Given the description of an element on the screen output the (x, y) to click on. 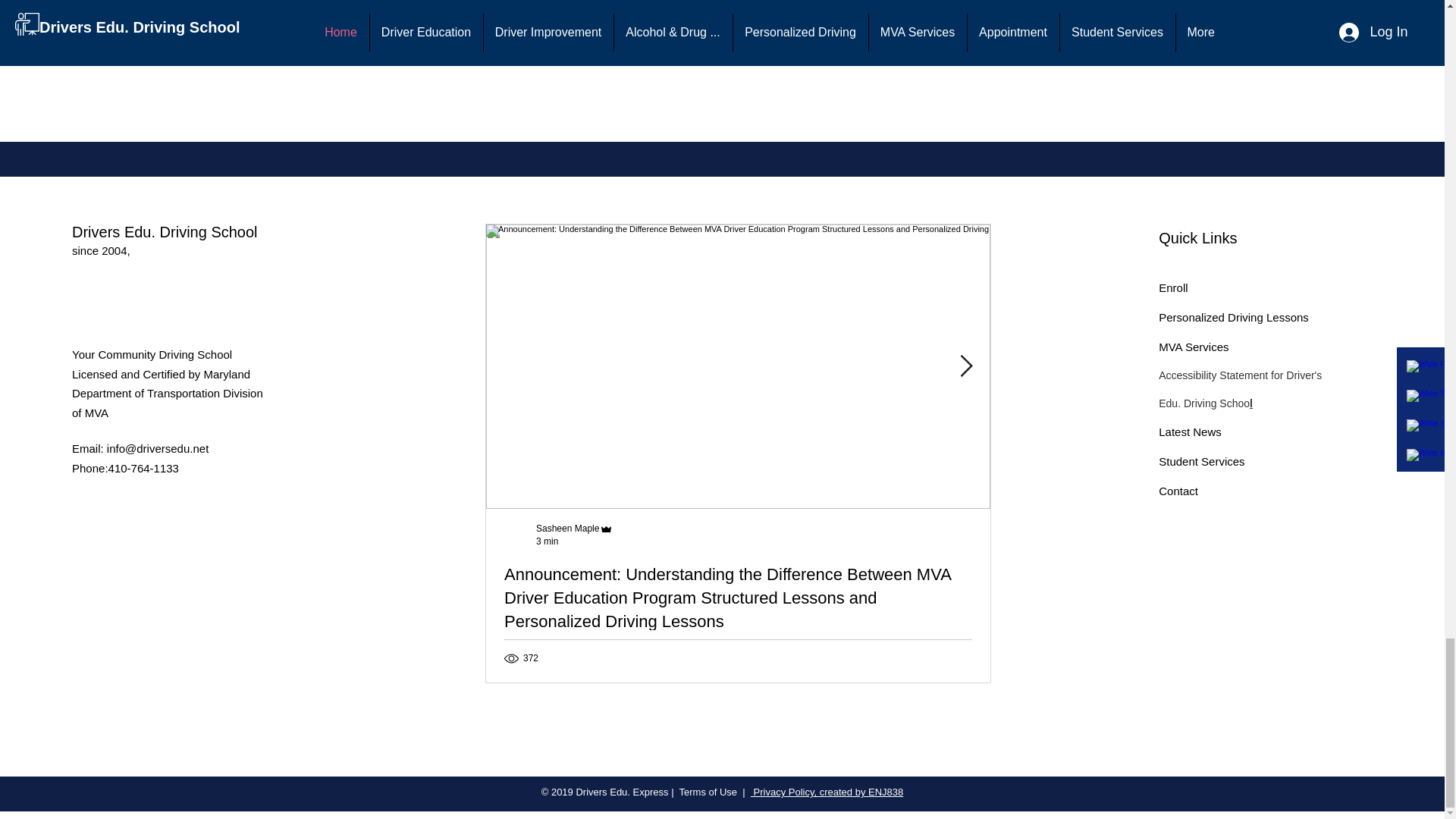
Sasheen Maple (1072, 528)
Sasheen Maple (566, 528)
3 min (546, 541)
2 min (1051, 541)
